Given the description of an element on the screen output the (x, y) to click on. 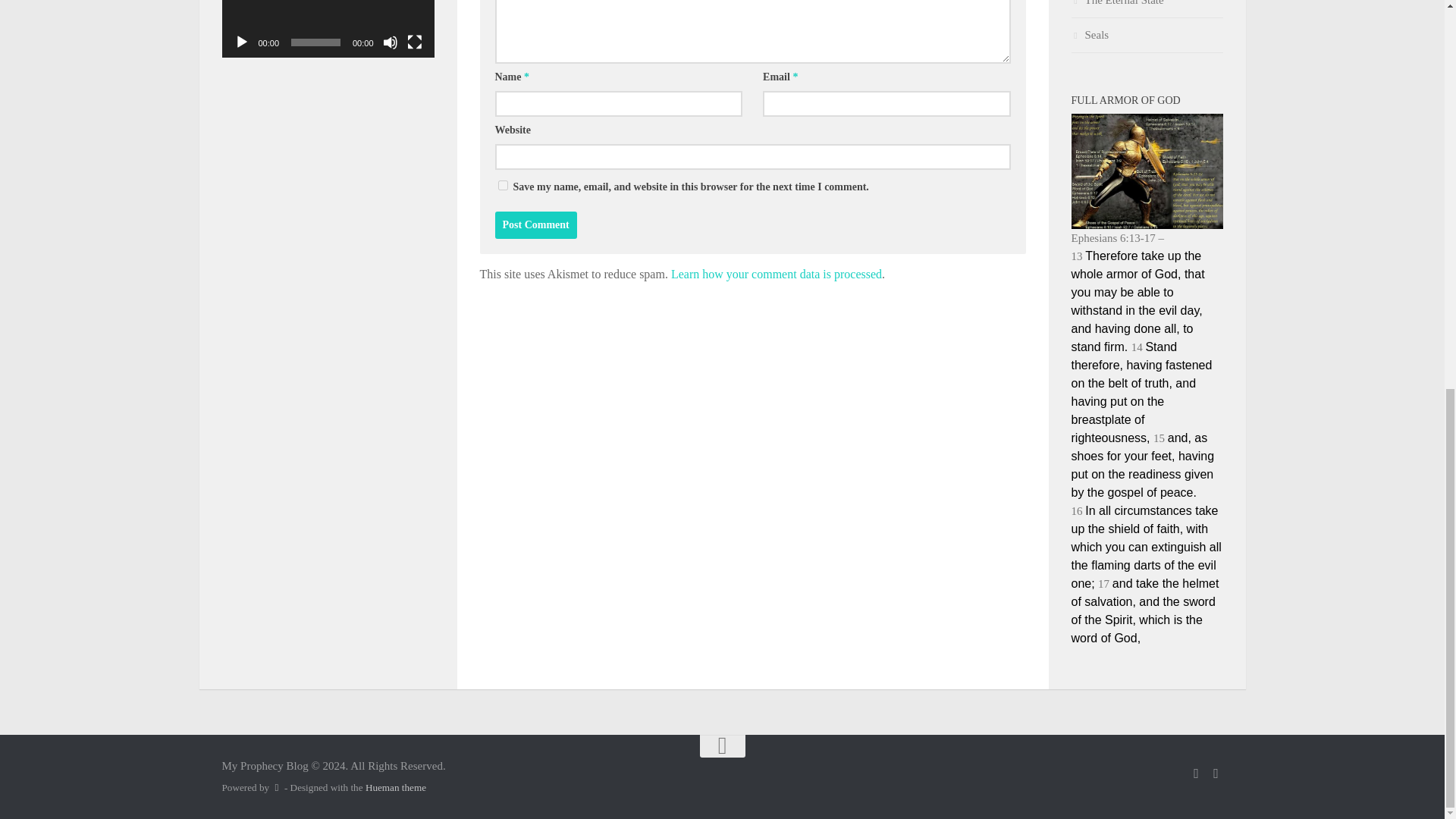
Fullscreen (414, 42)
Post Comment (535, 225)
Post Comment (535, 225)
Learn how your comment data is processed (776, 273)
Powered by WordPress (275, 787)
yes (501, 185)
Follow us on Facebook (1195, 773)
Mute (389, 42)
Follow us on Twitter (1215, 773)
Hueman theme (395, 787)
